Given the description of an element on the screen output the (x, y) to click on. 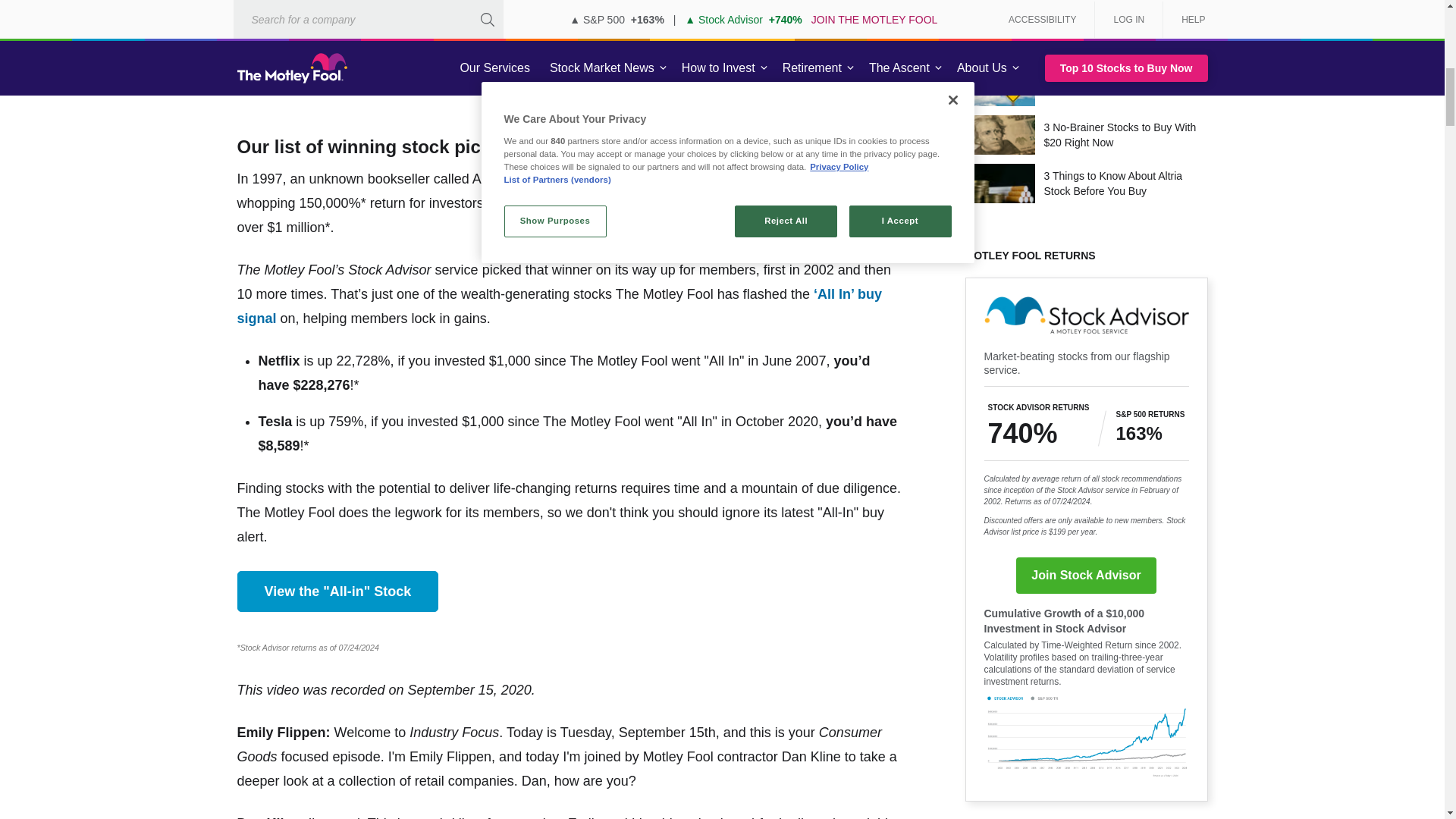
youtube (569, 66)
